Given the description of an element on the screen output the (x, y) to click on. 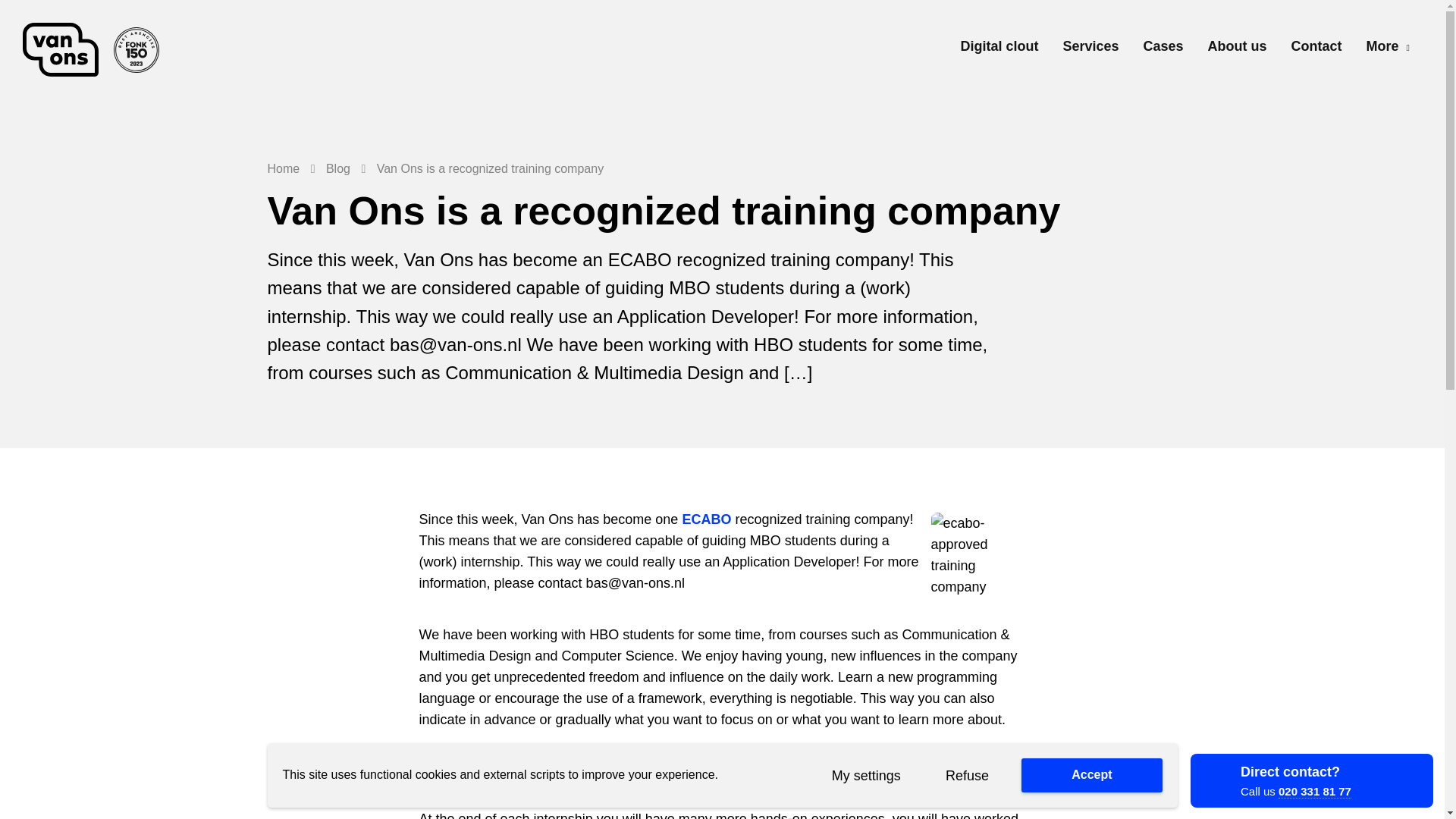
Cases (1162, 50)
ECABO (705, 519)
Digital clout (998, 50)
Accept (1091, 775)
From Our Digital Agency (98, 49)
More (1388, 46)
Refuse (966, 775)
Call us (1311, 780)
My settings (865, 775)
Services (1090, 50)
